Given the description of an element on the screen output the (x, y) to click on. 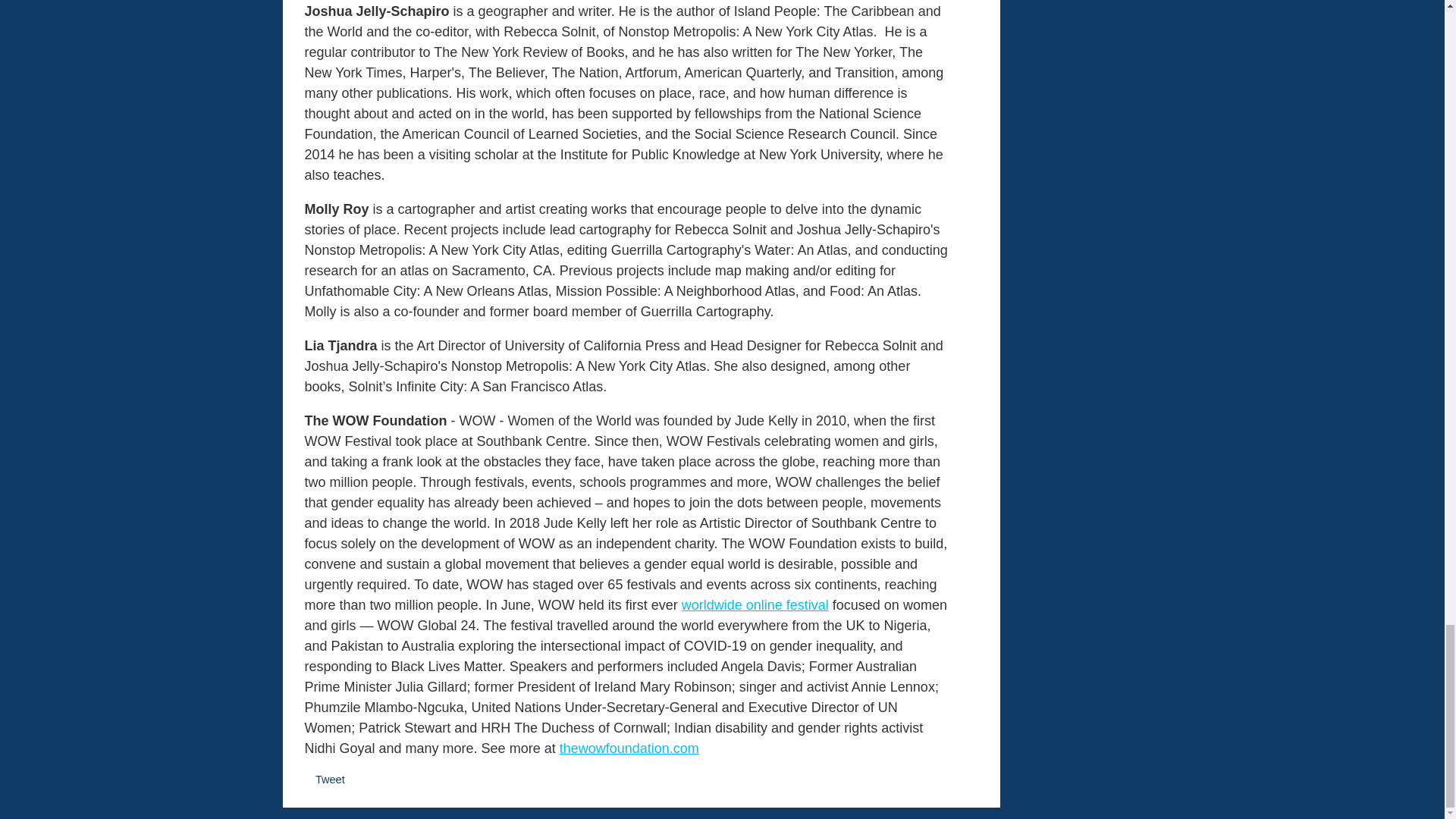
thewowfoundation.com (628, 748)
Tweet (330, 779)
worldwide online festival (754, 604)
